Given the description of an element on the screen output the (x, y) to click on. 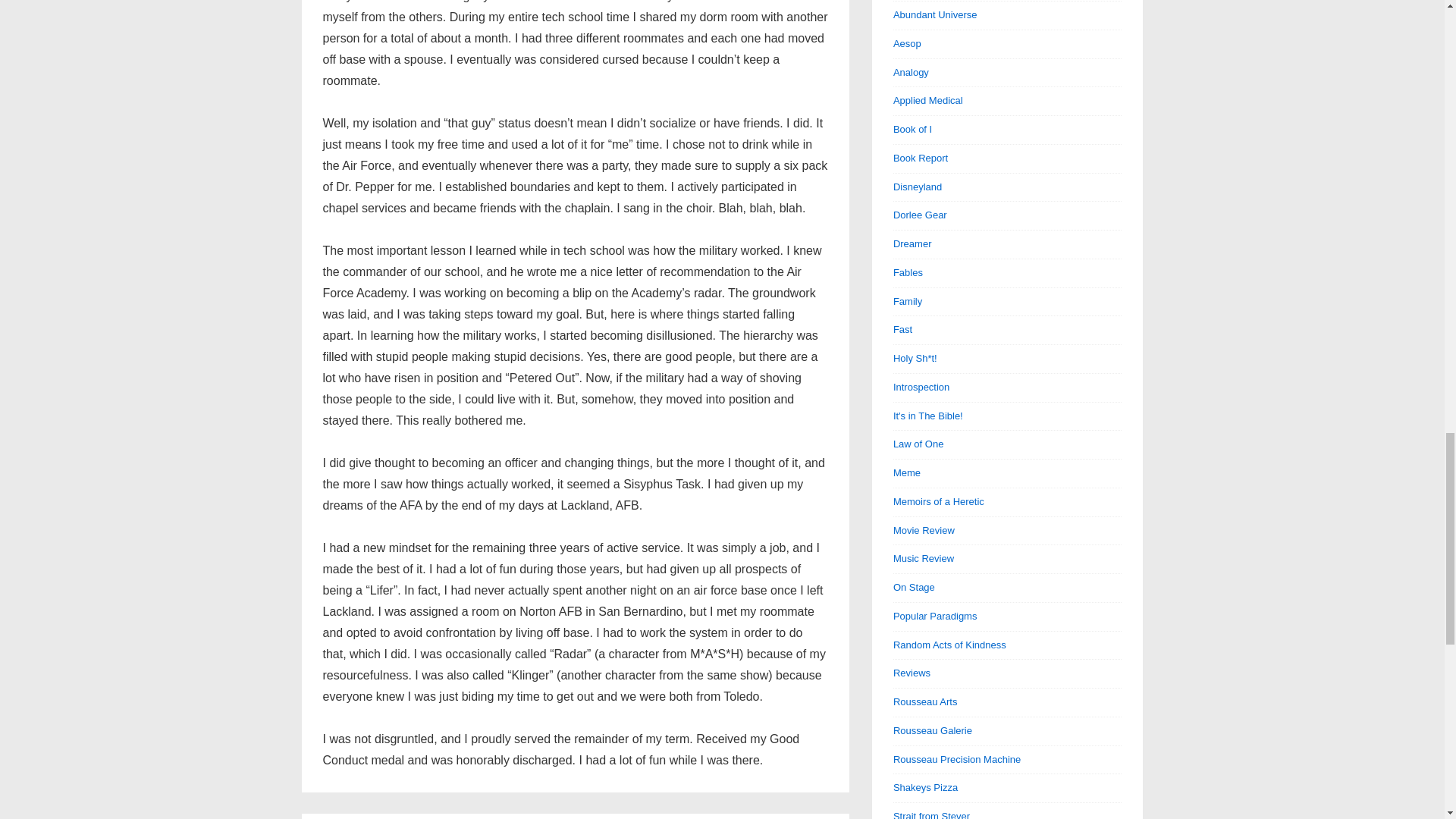
Just some things from religion that caught my attention. (915, 357)
